Given the description of an element on the screen output the (x, y) to click on. 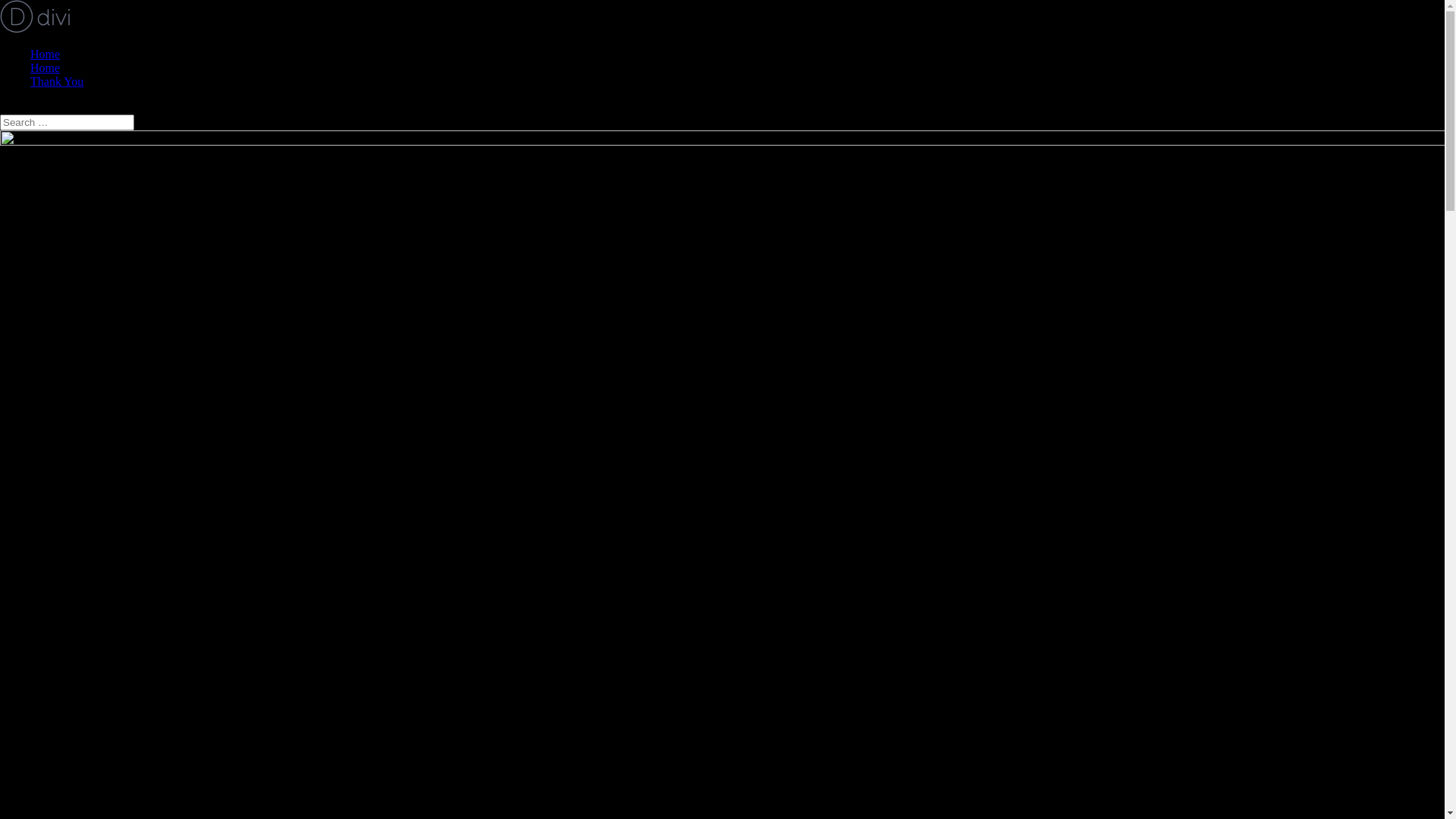
Home Element type: text (44, 67)
Hydrokleen Discovery session banner Element type: hover (722, 412)
Thank You Element type: text (56, 81)
Home Element type: text (44, 53)
Search for: Element type: hover (67, 122)
